Given the description of an element on the screen output the (x, y) to click on. 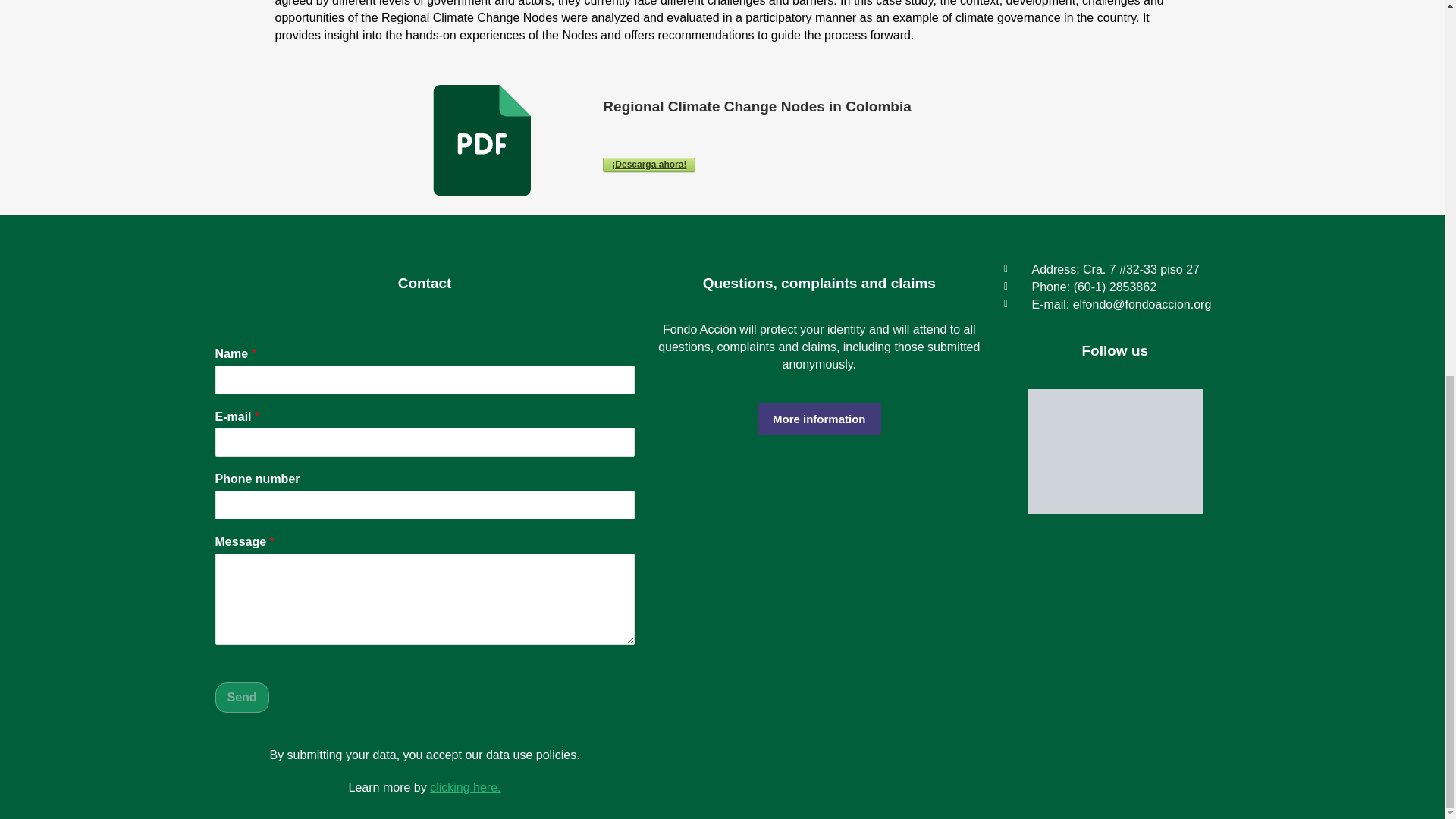
Regional Climate Change Nodes in Colombia (648, 164)
Send (242, 697)
clicking here. (464, 787)
More information (818, 418)
